Given the description of an element on the screen output the (x, y) to click on. 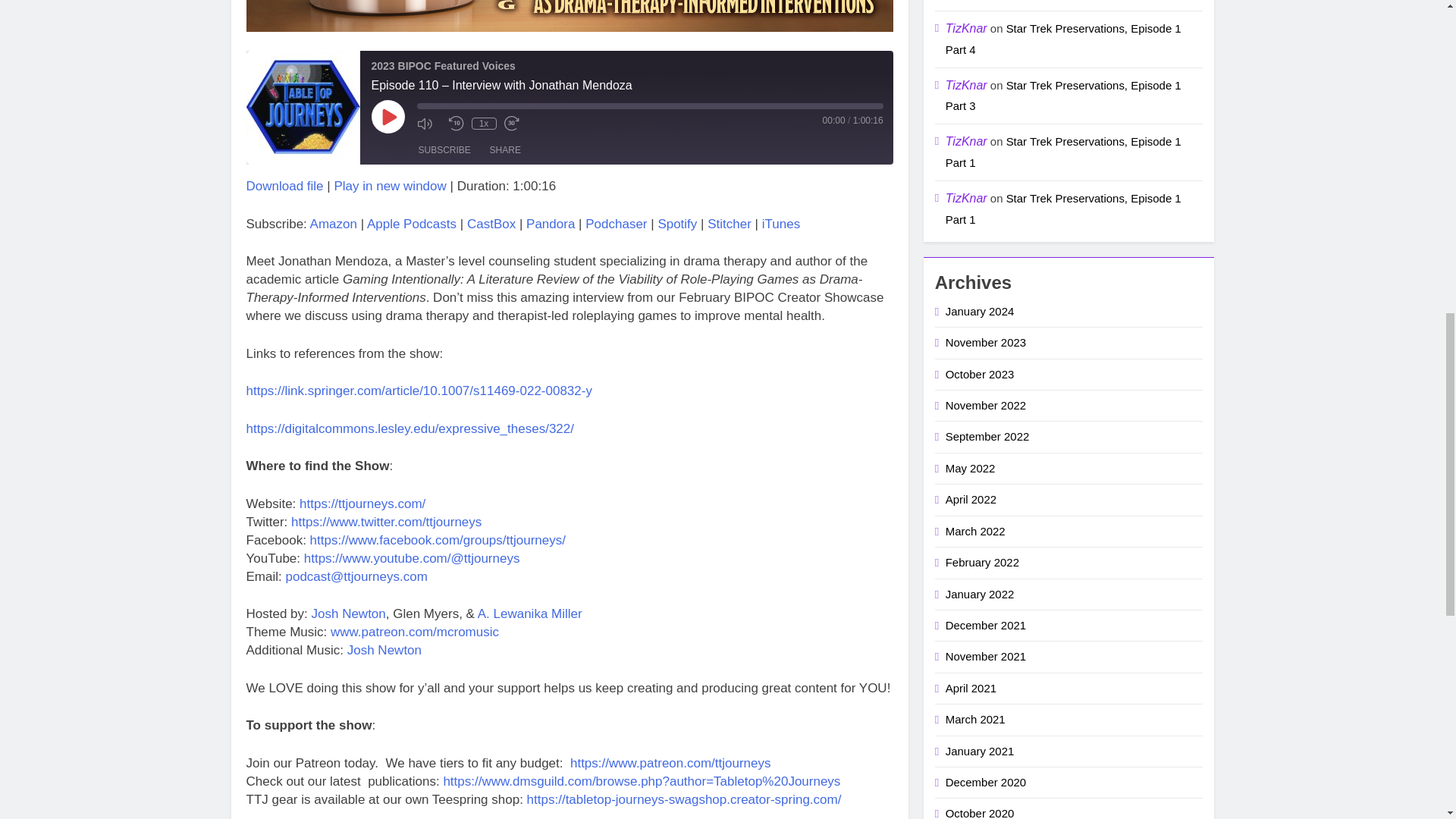
Subscribe (444, 150)
Play (387, 116)
Fast Forward 30 seconds (515, 123)
2023 BIPOC Featured Voices (302, 107)
Rewind 10 seconds (456, 123)
Playback Speed (483, 123)
Seek (649, 105)
Share (504, 150)
